Given the description of an element on the screen output the (x, y) to click on. 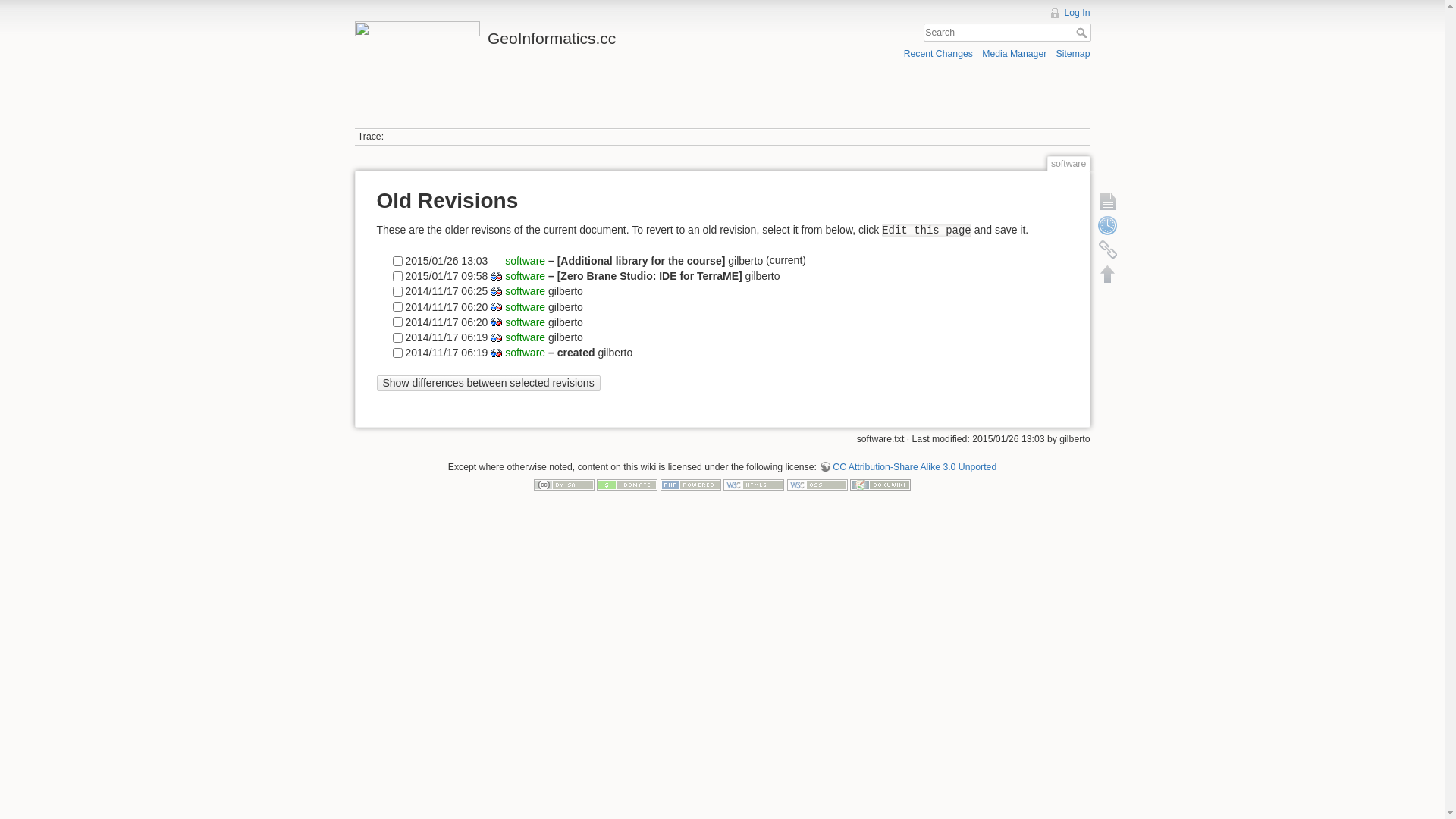
Search Element type: text (1082, 32)
GeoInformatics.cc Element type: text (534, 34)
Driven by DokuWiki Element type: hover (880, 484)
software Element type: text (525, 306)
Show differences between selected revisions Element type: text (487, 383)
CC Attribution-Share Alike 3.0 Unported Element type: text (907, 466)
Media Manager Element type: text (1014, 53)
Show differences to current revisions Element type: hover (496, 321)
Valid CSS Element type: hover (817, 484)
software Element type: text (525, 291)
Show differences to current revisions Element type: hover (496, 291)
Log In Element type: text (1068, 12)
Show differences to current revisions Element type: hover (496, 352)
Backlinks Element type: hover (1107, 249)
software Element type: text (525, 275)
software Element type: text (525, 351)
[F] Element type: hover (1007, 32)
software Element type: text (523, 260)
software Element type: text (525, 336)
Sitemap Element type: text (1073, 53)
Show differences to current revisions Element type: hover (496, 337)
Show differences to current revisions Element type: hover (496, 306)
Old revisions [O] Element type: hover (1107, 225)
Recent Changes Element type: text (937, 53)
Donate Element type: hover (626, 484)
Back to top [T] Element type: hover (1107, 273)
Show page [V] Element type: hover (1107, 200)
Powered by PHP Element type: hover (690, 484)
software Element type: text (525, 321)
Show differences to current revisions Element type: hover (496, 276)
Valid HTML5 Element type: hover (753, 484)
